Given the description of an element on the screen output the (x, y) to click on. 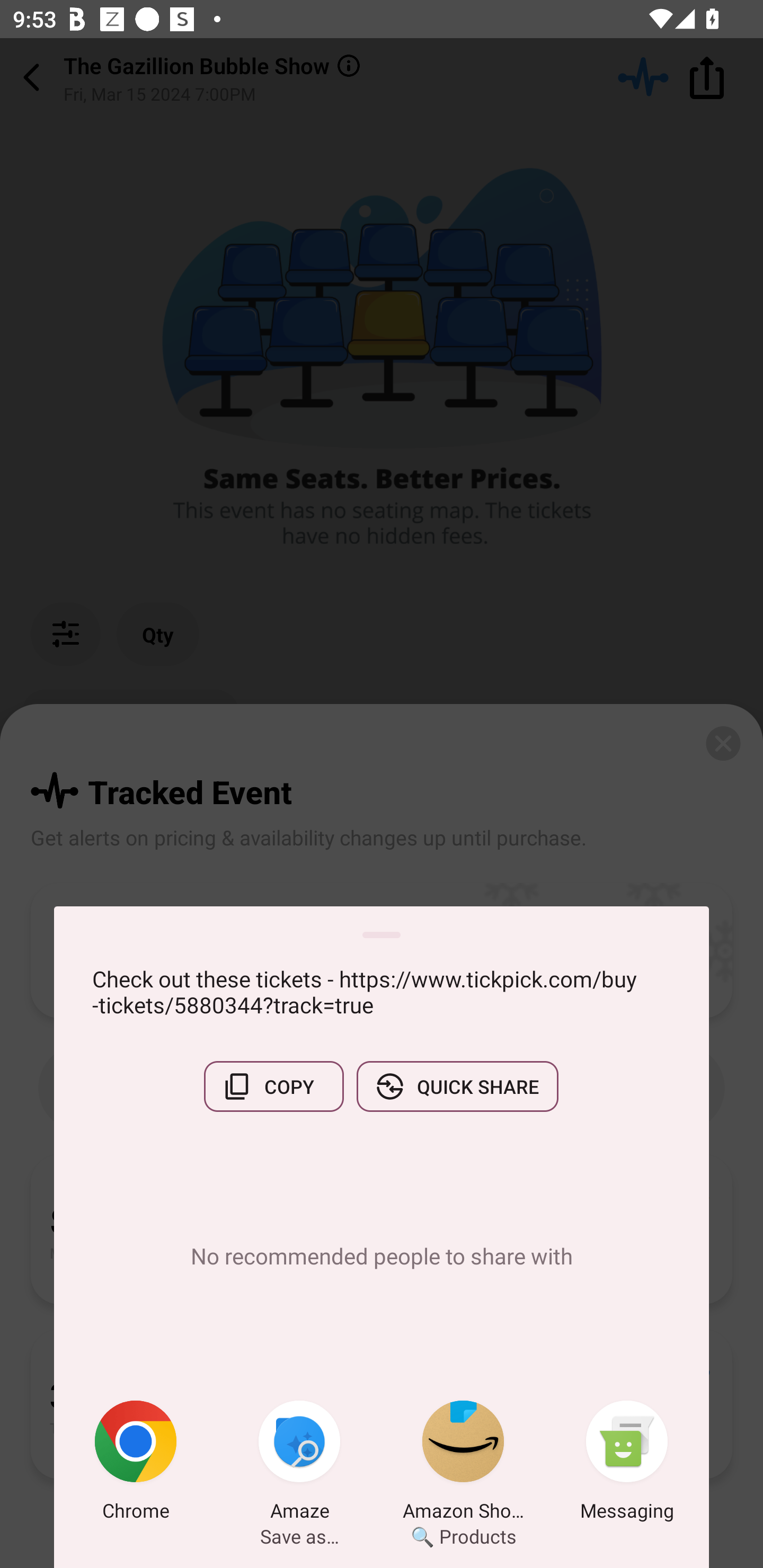
COPY (273, 1086)
QUICK SHARE (457, 1086)
Chrome (135, 1463)
Amaze Save as… (299, 1463)
Amazon Shopping 🔍 Products (463, 1463)
Messaging (626, 1463)
